Given the description of an element on the screen output the (x, y) to click on. 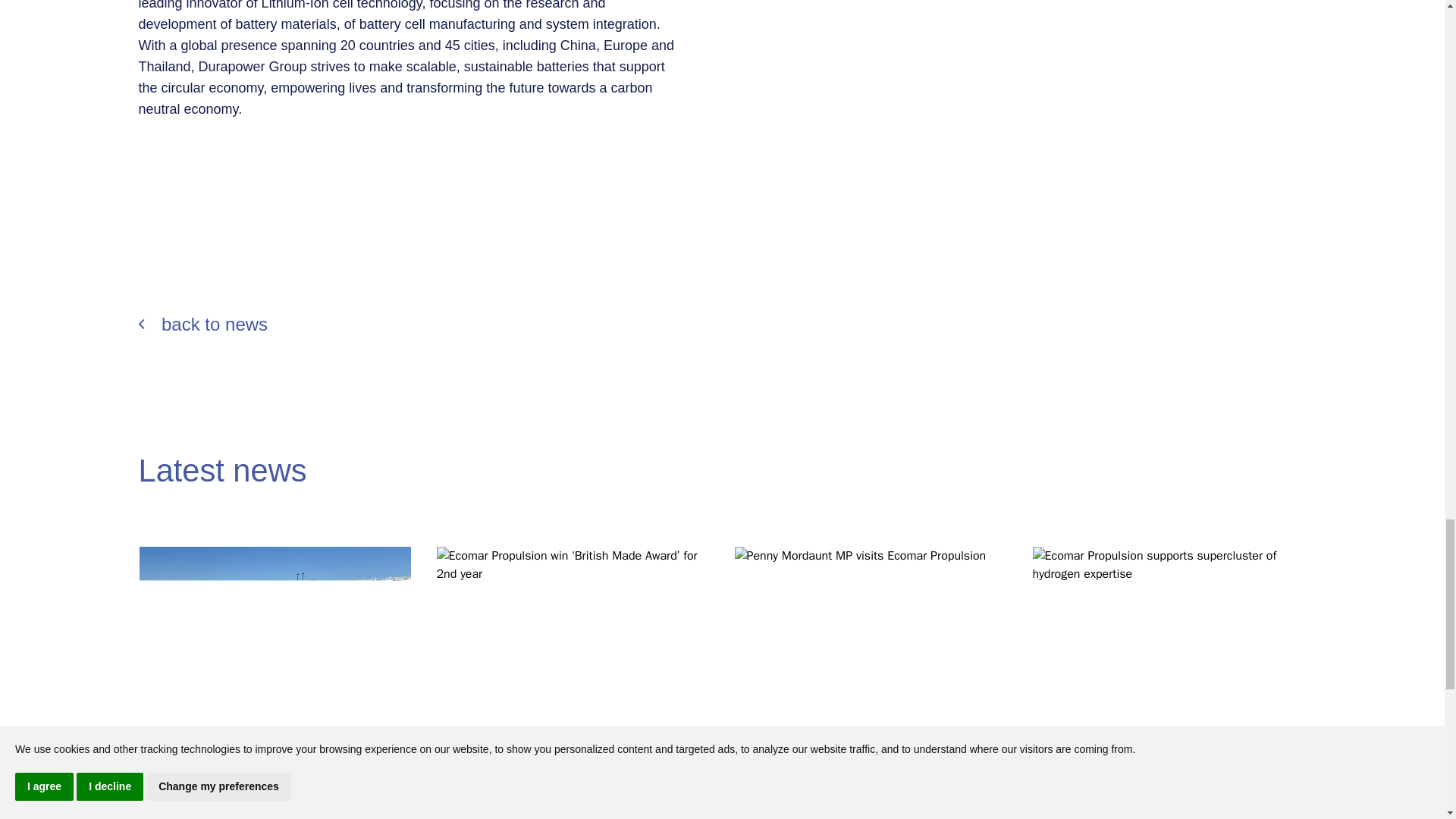
back to news (722, 324)
